Given the description of an element on the screen output the (x, y) to click on. 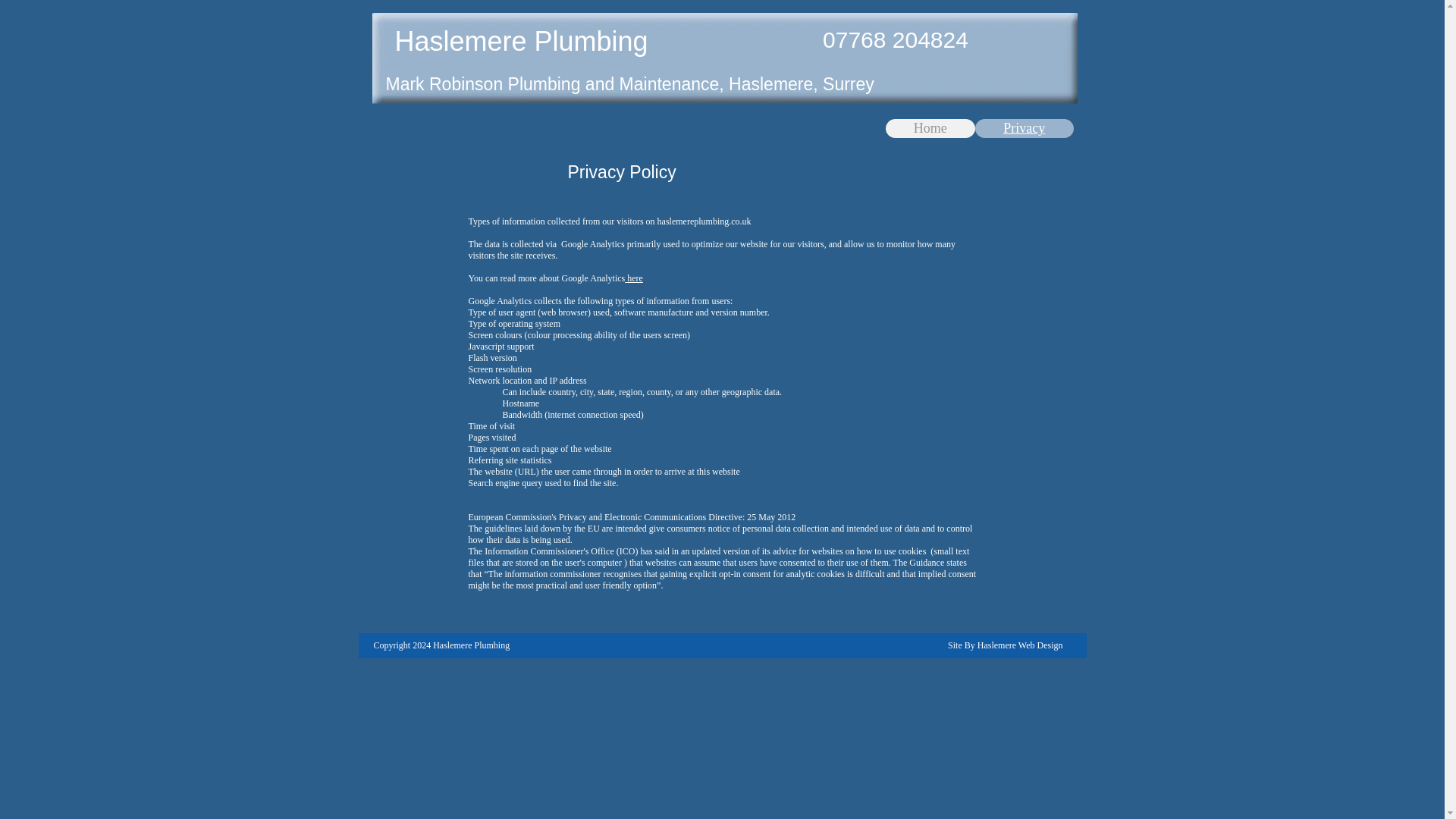
Haslemere Web Design (1019, 644)
Home (930, 128)
 here (633, 277)
07768 204824 (895, 39)
Privacy (1024, 128)
